Given the description of an element on the screen output the (x, y) to click on. 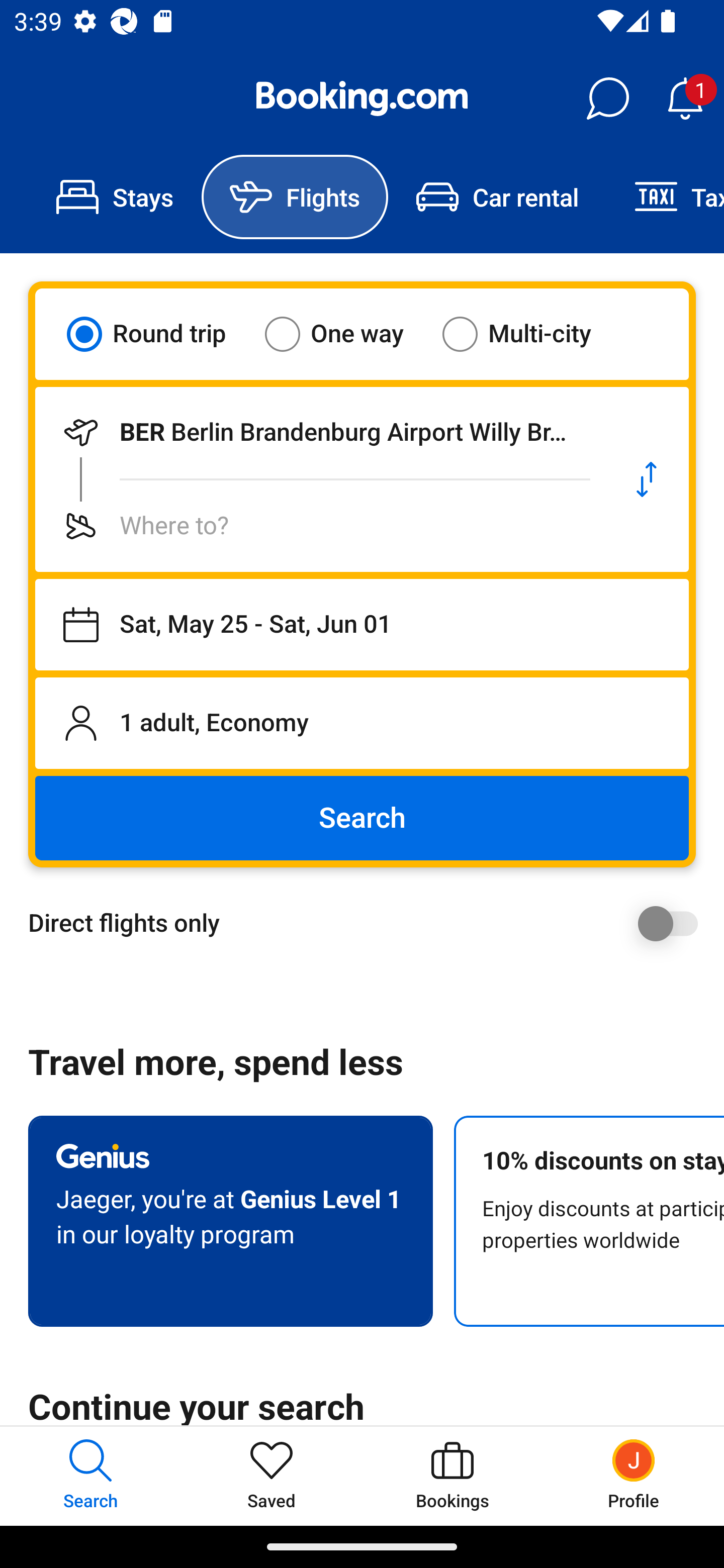
Messages (607, 98)
Notifications (685, 98)
Stays (114, 197)
Flights (294, 197)
Car rental (497, 197)
Taxi (665, 197)
One way (346, 333)
Multi-city (528, 333)
Swap departure location and destination (646, 479)
Flying to  (319, 525)
Departing on Sat, May 25, returning on Sat, Jun 01 (361, 624)
1 adult, Economy (361, 722)
Search (361, 818)
Direct flights only (369, 923)
Saved (271, 1475)
Bookings (452, 1475)
Profile (633, 1475)
